Given the description of an element on the screen output the (x, y) to click on. 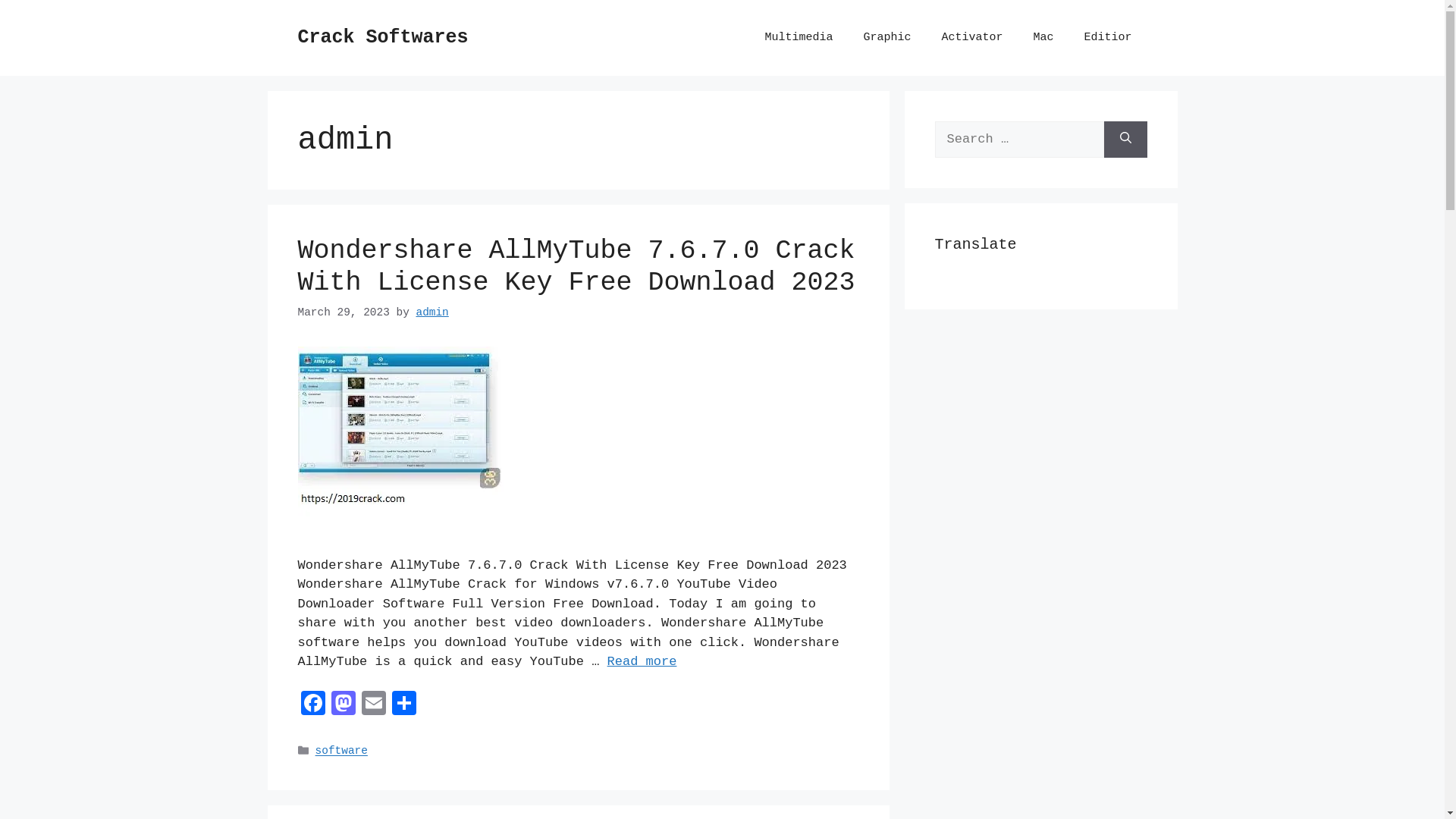
Facebook Element type: text (312, 705)
Editior Element type: text (1107, 37)
software Element type: text (341, 751)
Graphic Element type: text (886, 37)
Read more Element type: text (642, 661)
Share Element type: text (403, 705)
Email Element type: text (372, 705)
admin Element type: text (431, 312)
Mac Element type: text (1042, 37)
Search for: Element type: hover (1018, 139)
Multimedia Element type: text (798, 37)
Mastodon Element type: text (342, 705)
Activator Element type: text (971, 37)
Crack Softwares Element type: text (382, 37)
